Given the description of an element on the screen output the (x, y) to click on. 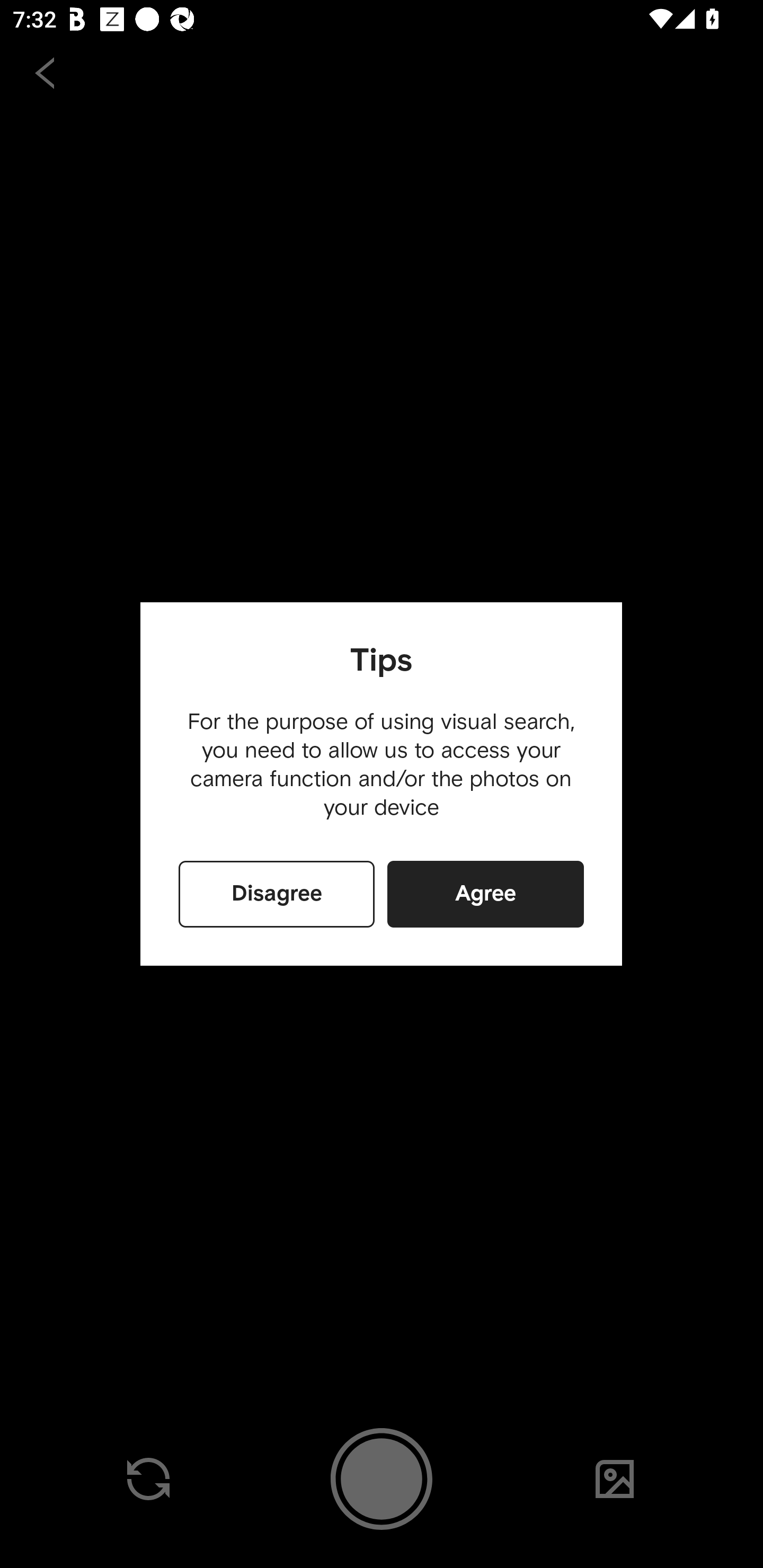
Disagree (276, 894)
Agree (485, 894)
